Given the description of an element on the screen output the (x, y) to click on. 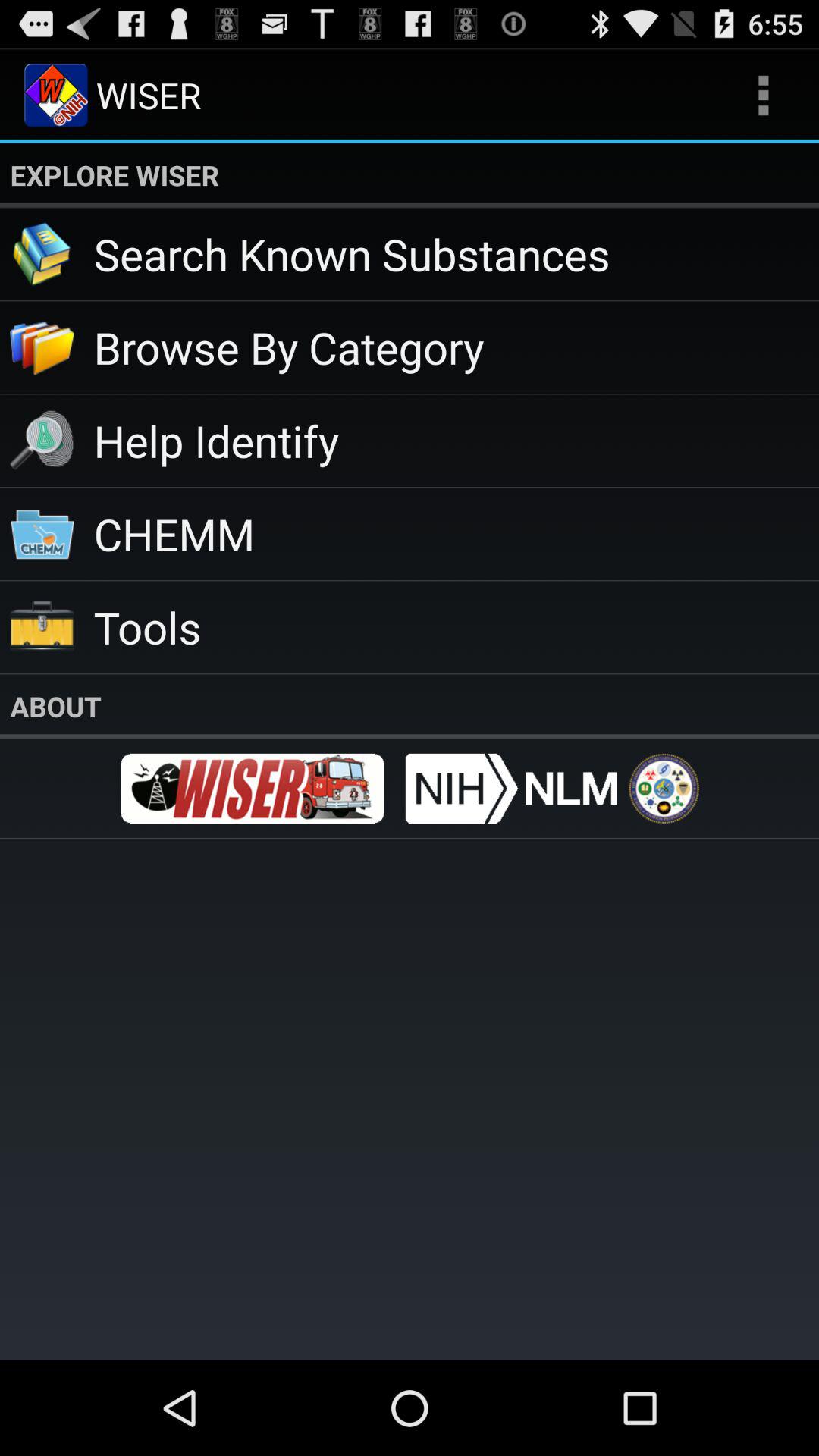
click item below about item (663, 788)
